Given the description of an element on the screen output the (x, y) to click on. 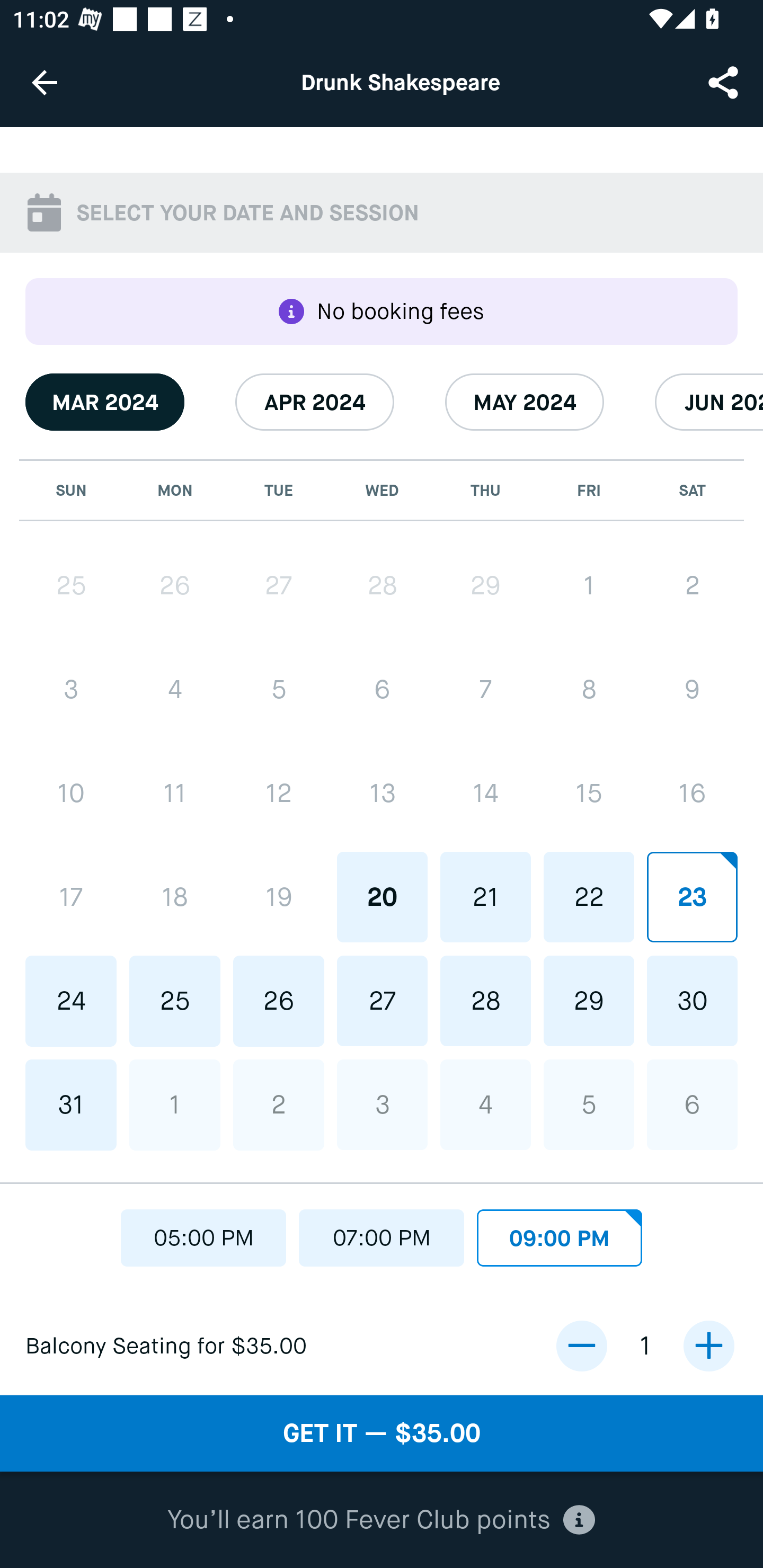
Navigate up (44, 82)
Share (724, 81)
MAR 2024 (104, 401)
APR 2024 (314, 401)
MAY 2024 (524, 401)
JUN 2024 (708, 401)
25 (70, 585)
26 (174, 585)
27 (278, 585)
28 (382, 585)
29 (485, 585)
1 (588, 585)
2 (692, 585)
3 (70, 689)
4 (174, 689)
5 (278, 689)
6 (382, 689)
7 (485, 689)
8 (588, 689)
9 (692, 689)
10 (70, 792)
11 (174, 792)
12 (278, 792)
13 (382, 792)
14 (485, 792)
15 (588, 792)
16 (692, 792)
17 (70, 896)
18 (174, 896)
19 (278, 896)
20 (382, 896)
21 (485, 896)
22 (588, 896)
23 (692, 896)
24 (70, 1000)
25 (174, 1000)
26 (278, 1000)
27 (382, 999)
28 (485, 999)
29 (588, 999)
30 (692, 999)
31 (70, 1104)
1 (174, 1104)
2 (278, 1104)
3 (382, 1104)
4 (485, 1104)
5 (588, 1104)
6 (692, 1104)
05:00 PM (203, 1232)
07:00 PM (381, 1232)
09:00 PM (559, 1232)
decrease (581, 1345)
increase (708, 1345)
GET IT — $35.00 (381, 1433)
You’ll earn 100 Fever Club points (381, 1519)
